Given the description of an element on the screen output the (x, y) to click on. 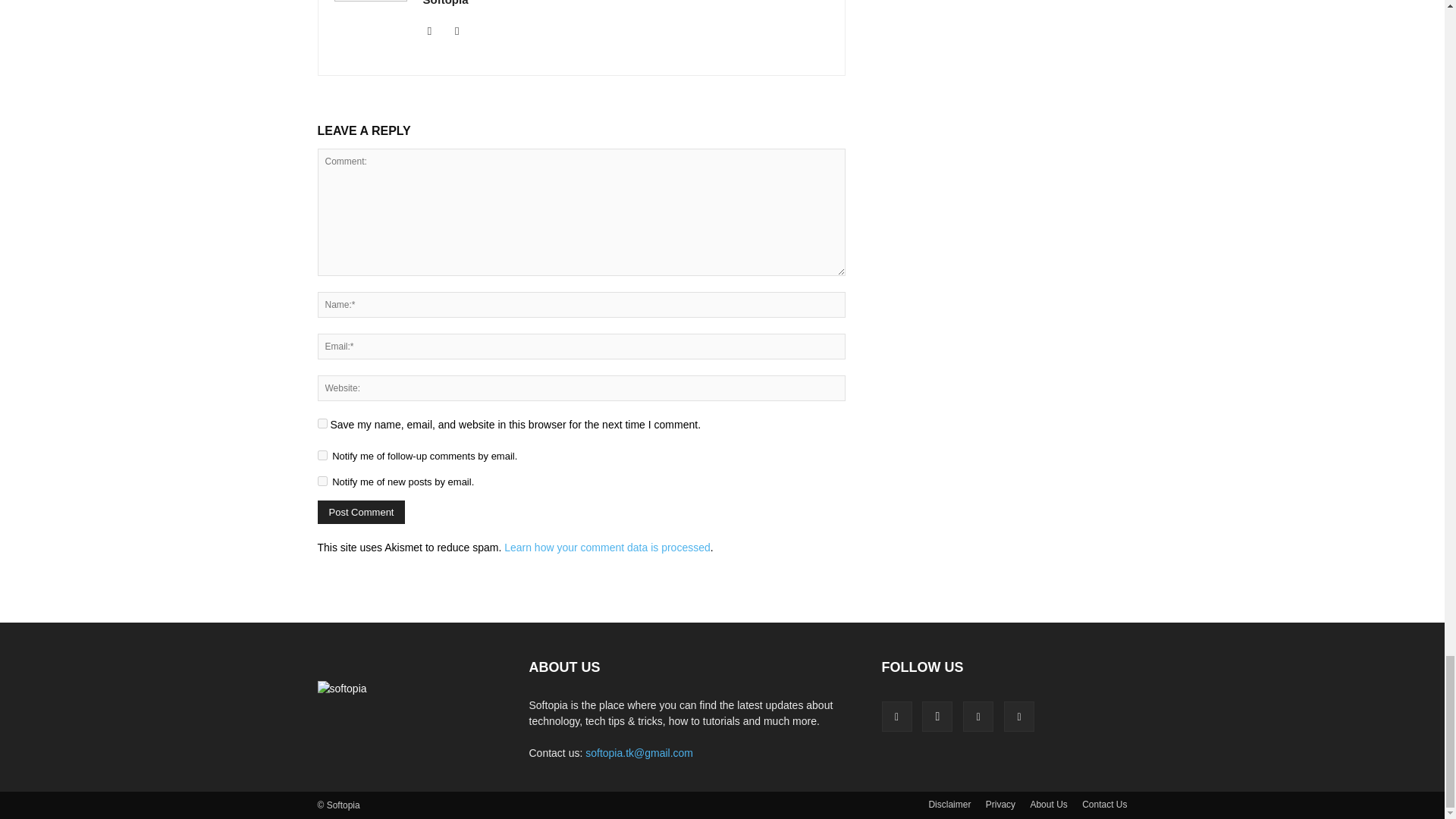
yes (321, 423)
subscribe (321, 480)
subscribe (321, 455)
Post Comment (360, 512)
